Given the description of an element on the screen output the (x, y) to click on. 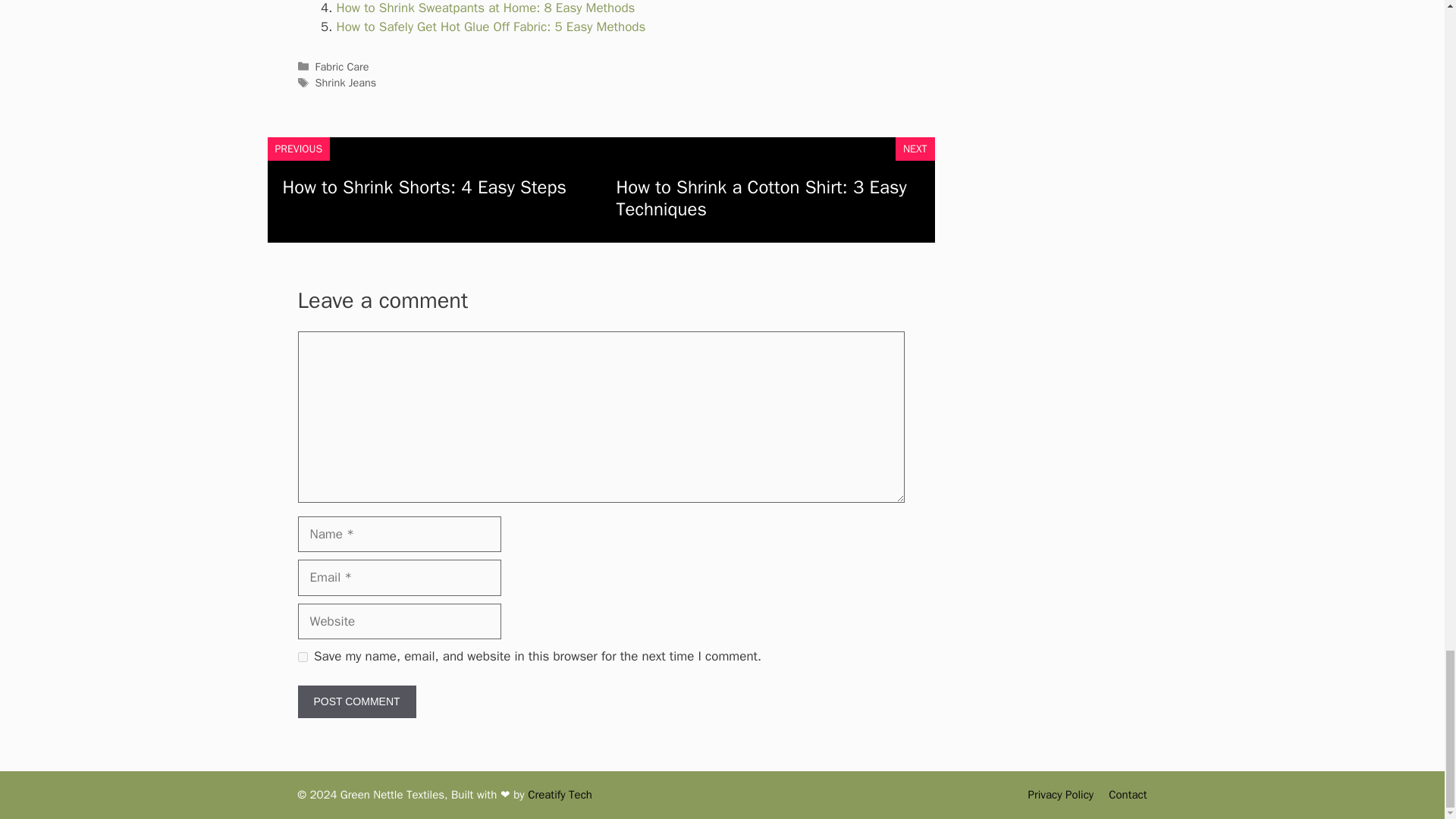
How to Shrink Shorts: 4 Easy Steps (424, 187)
Fabric Care (342, 66)
Post Comment (355, 701)
yes (302, 655)
How to Shrink a Cotton Shirt: 3 Easy Techniques (760, 198)
How to Safely Get Hot Glue Off Fabric: 5 Easy Methods (491, 26)
Shrink Jeans (346, 82)
Privacy Policy (1060, 794)
Contact (1127, 794)
How to Shrink Sweatpants at Home: 8 Easy Methods (485, 7)
How to Safely Get Hot Glue Off Fabric: 5 Easy Methods (491, 26)
How to Shrink Sweatpants at Home: 8 Easy Methods (485, 7)
Post Comment (355, 701)
